Given the description of an element on the screen output the (x, y) to click on. 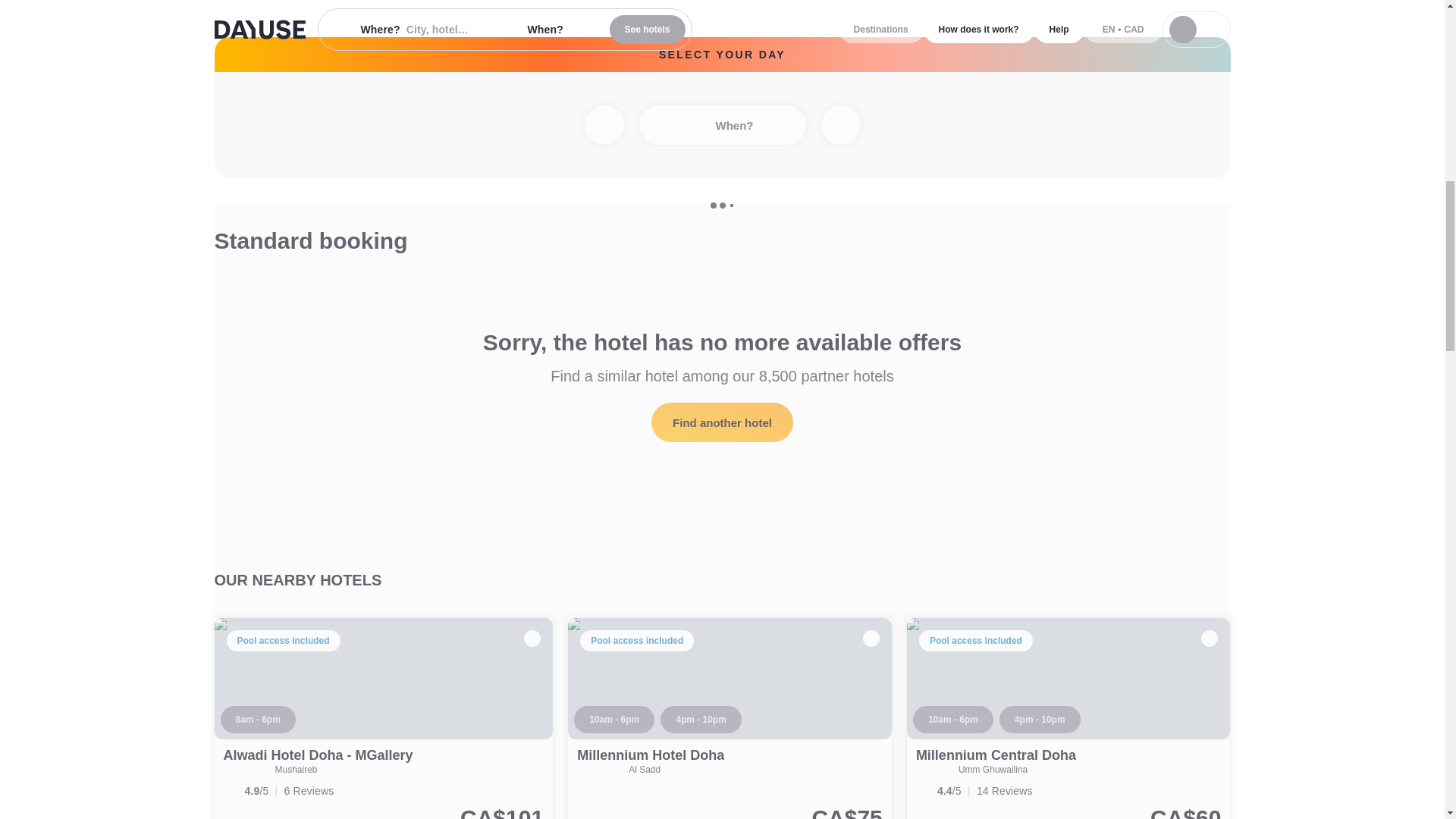
Millennium Hotel Doha (649, 754)
Millennium Central Doha (995, 754)
Next day (840, 124)
Find another hotel (721, 422)
Millennium Central Doha (1068, 718)
10am - 6pm (613, 719)
Millennium Hotel Doha (649, 754)
Alwadi Hotel Doha - MGallery (317, 754)
Previous day (603, 124)
8am - 6pm (257, 719)
When? (722, 124)
Alwadi Hotel Doha - MGallery (317, 754)
4pm - 10pm (701, 719)
Alwadi Hotel Doha - MGallery (383, 718)
Millennium Hotel Doha (729, 718)
